Given the description of an element on the screen output the (x, y) to click on. 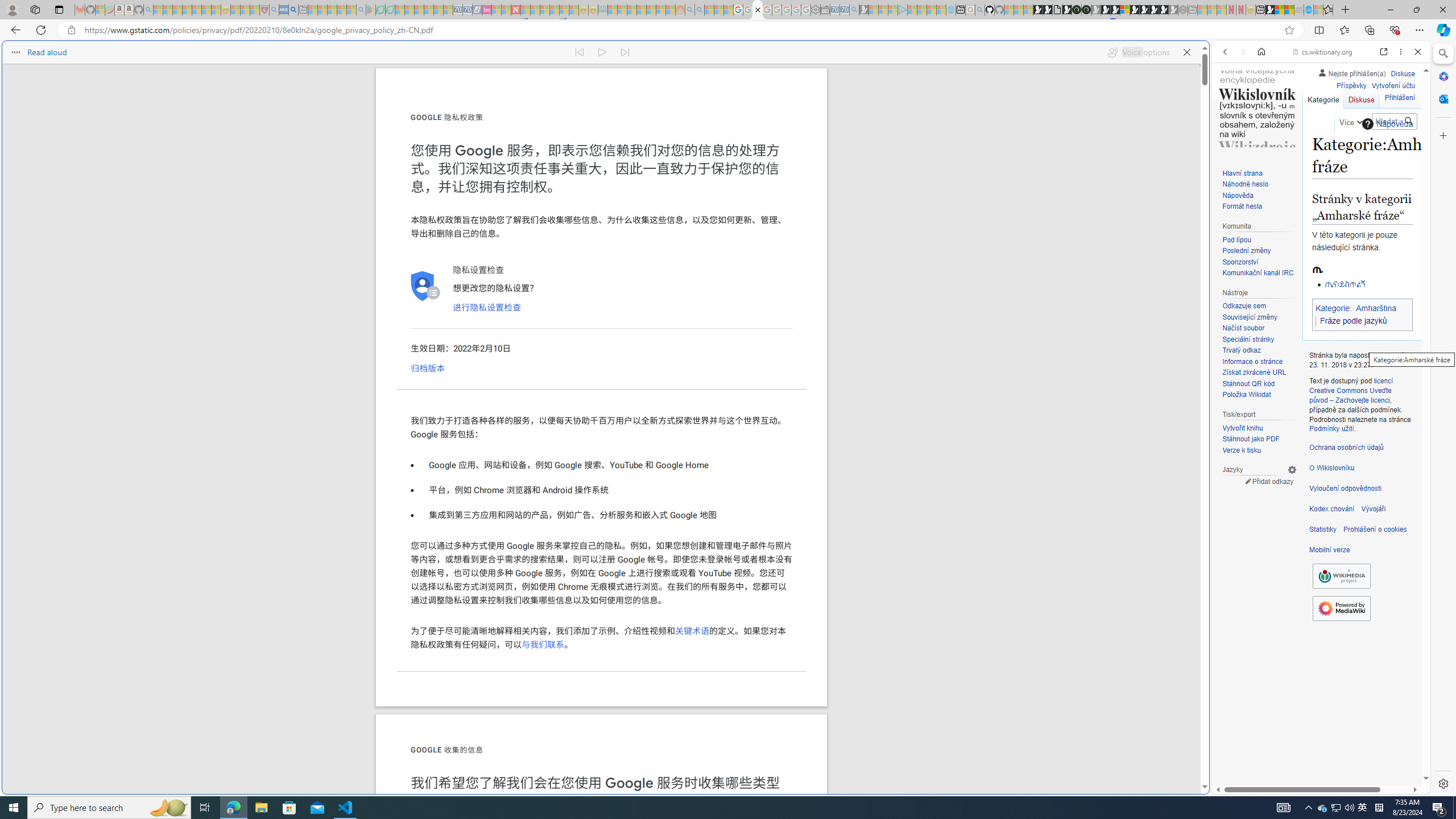
Search Filter, VIDEOS (1300, 129)
AutomationID: footer-poweredbyico (1341, 608)
Diskuse (1360, 96)
Services - Maintenance | Sky Blue Bikes - Sky Blue Bikes (1307, 9)
Statistiky (1322, 529)
